Given the description of an element on the screen output the (x, y) to click on. 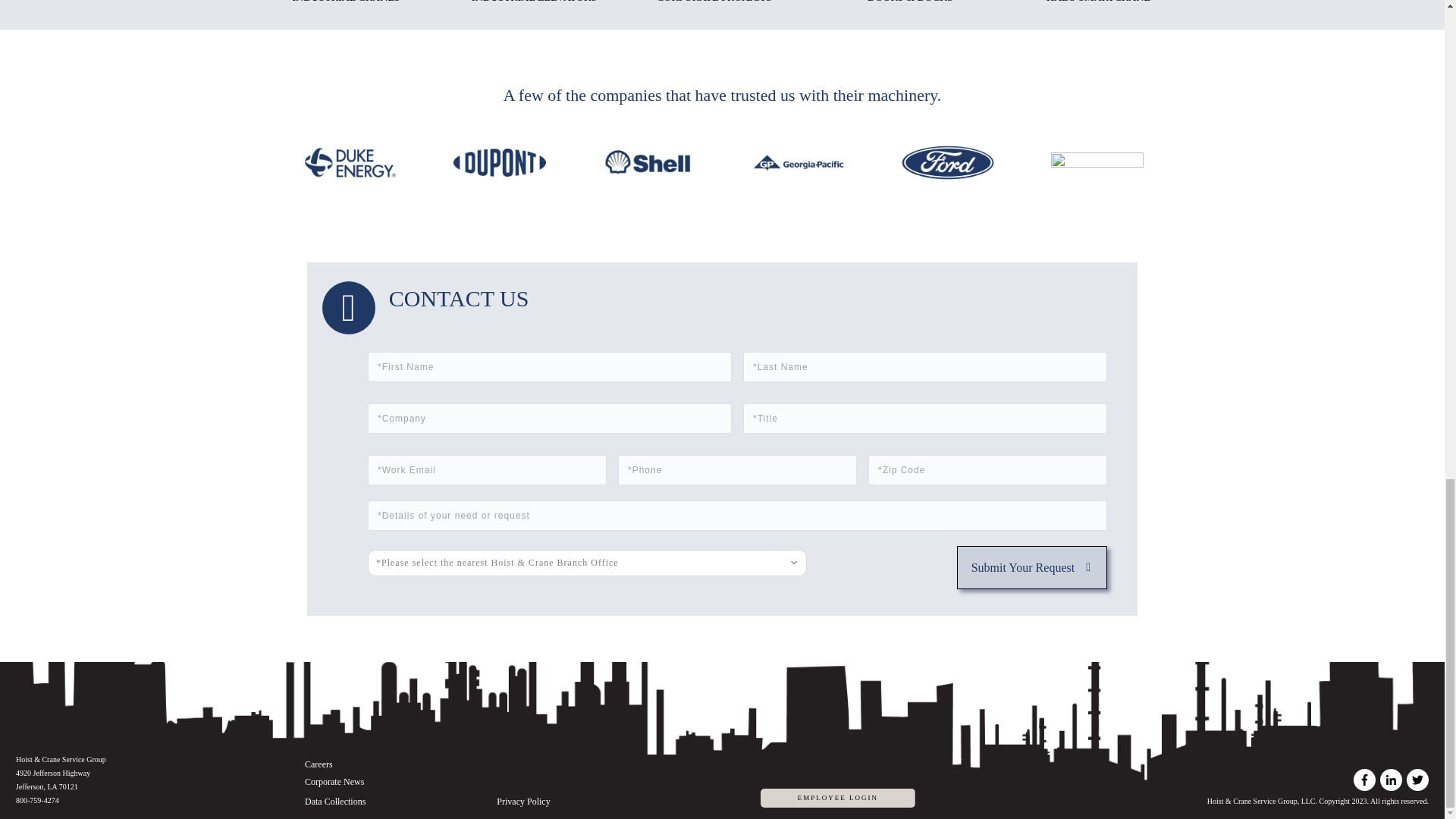
HALO SmartCrane crane and hoist monitoring service (1097, 58)
